Given the description of an element on the screen output the (x, y) to click on. 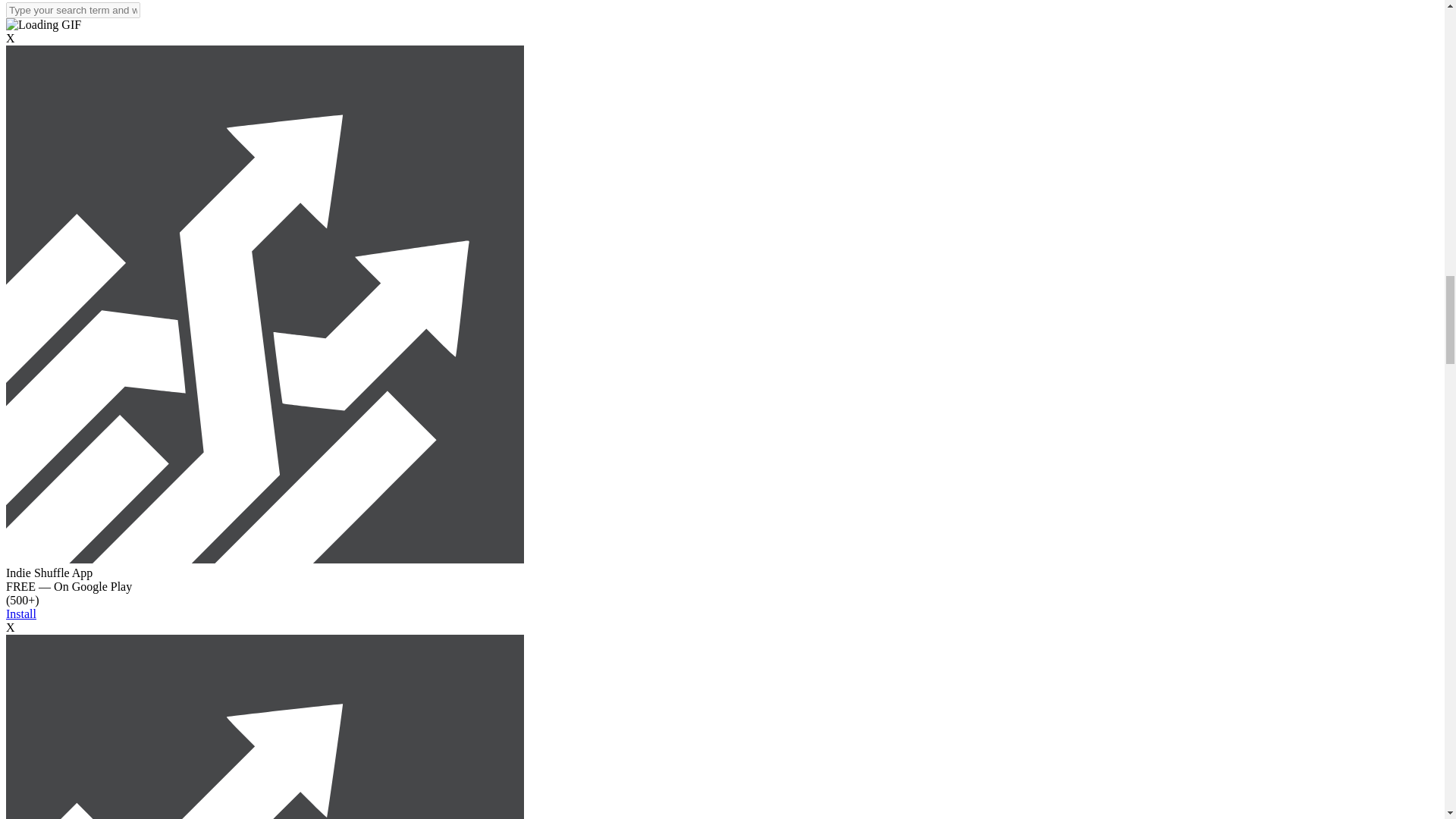
Install Android App (264, 558)
